Given the description of an element on the screen output the (x, y) to click on. 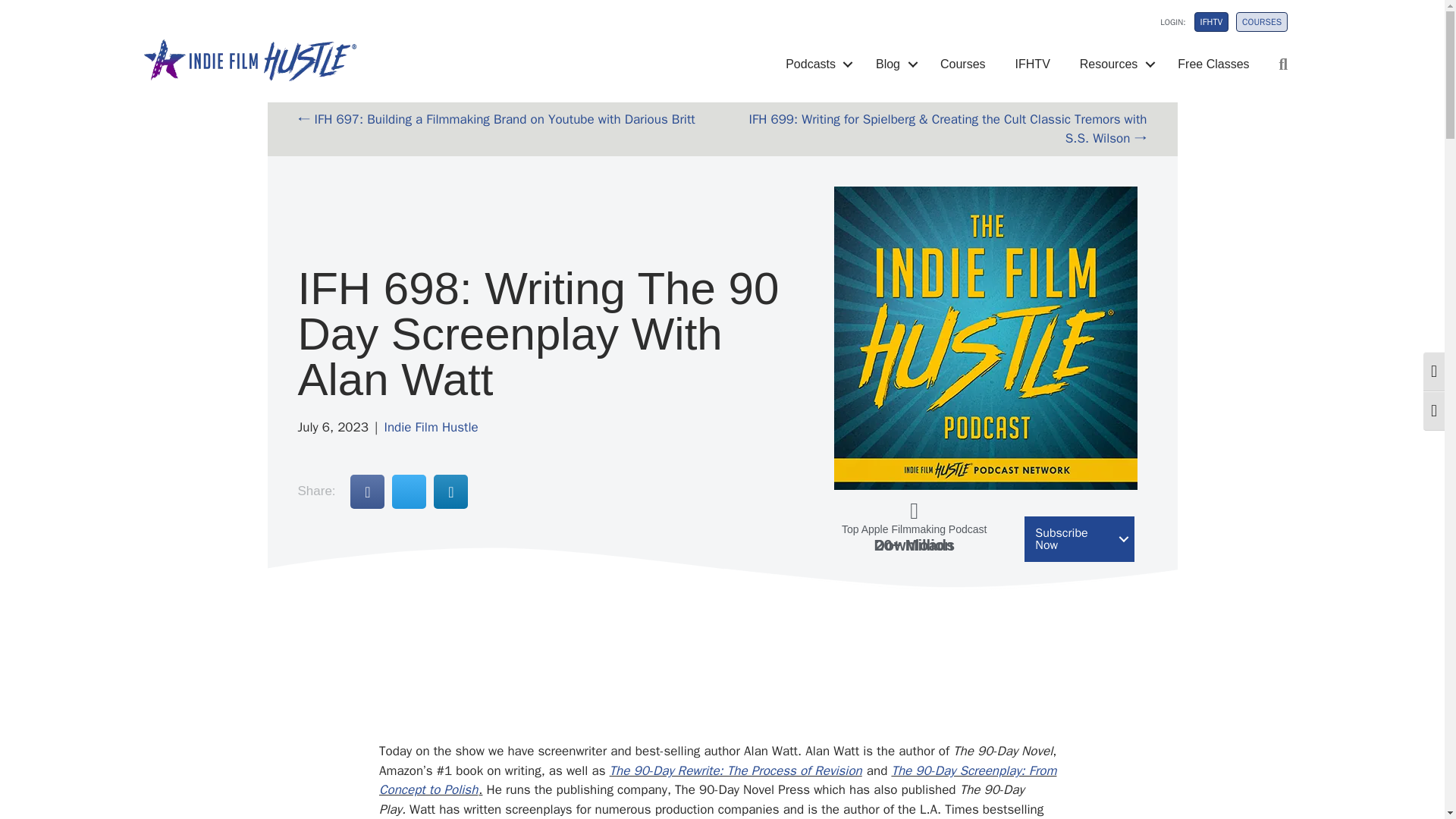
Indie Film Hustle (250, 58)
LOGIN: (1163, 26)
IFHTV (1210, 21)
Subscribe Now (1079, 538)
Resources (1113, 64)
Indie Film Hustle (431, 426)
Blog (892, 64)
NEW 2023 PODCAST COVER MASTER 400x400 (985, 337)
Courses (963, 64)
COURSES (1261, 21)
